Given the description of an element on the screen output the (x, y) to click on. 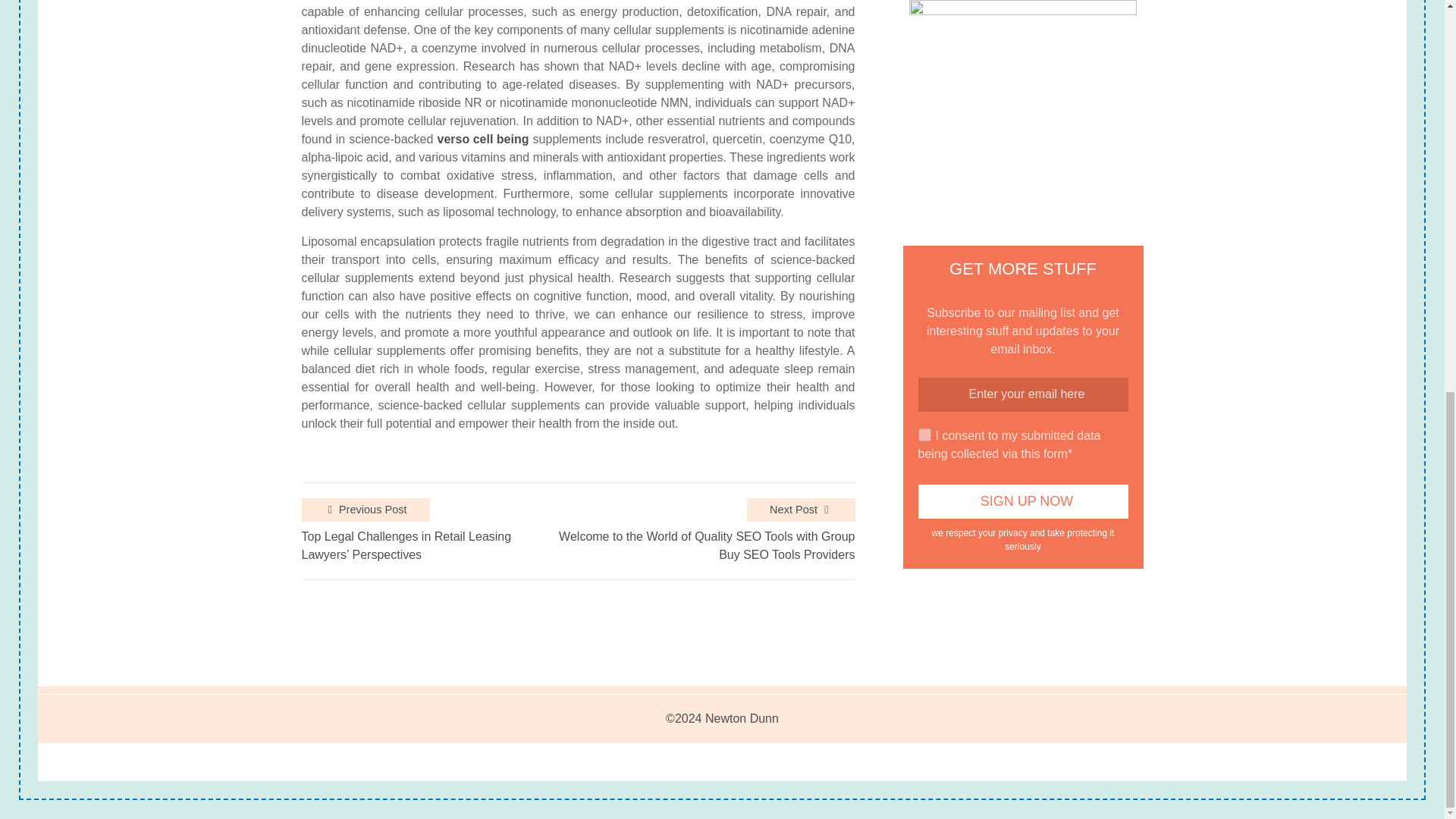
Previous Post (365, 509)
Sign Up Now (1023, 501)
verso cell being (483, 139)
on (924, 434)
Sign Up Now (1023, 501)
Next Post (800, 509)
